Given the description of an element on the screen output the (x, y) to click on. 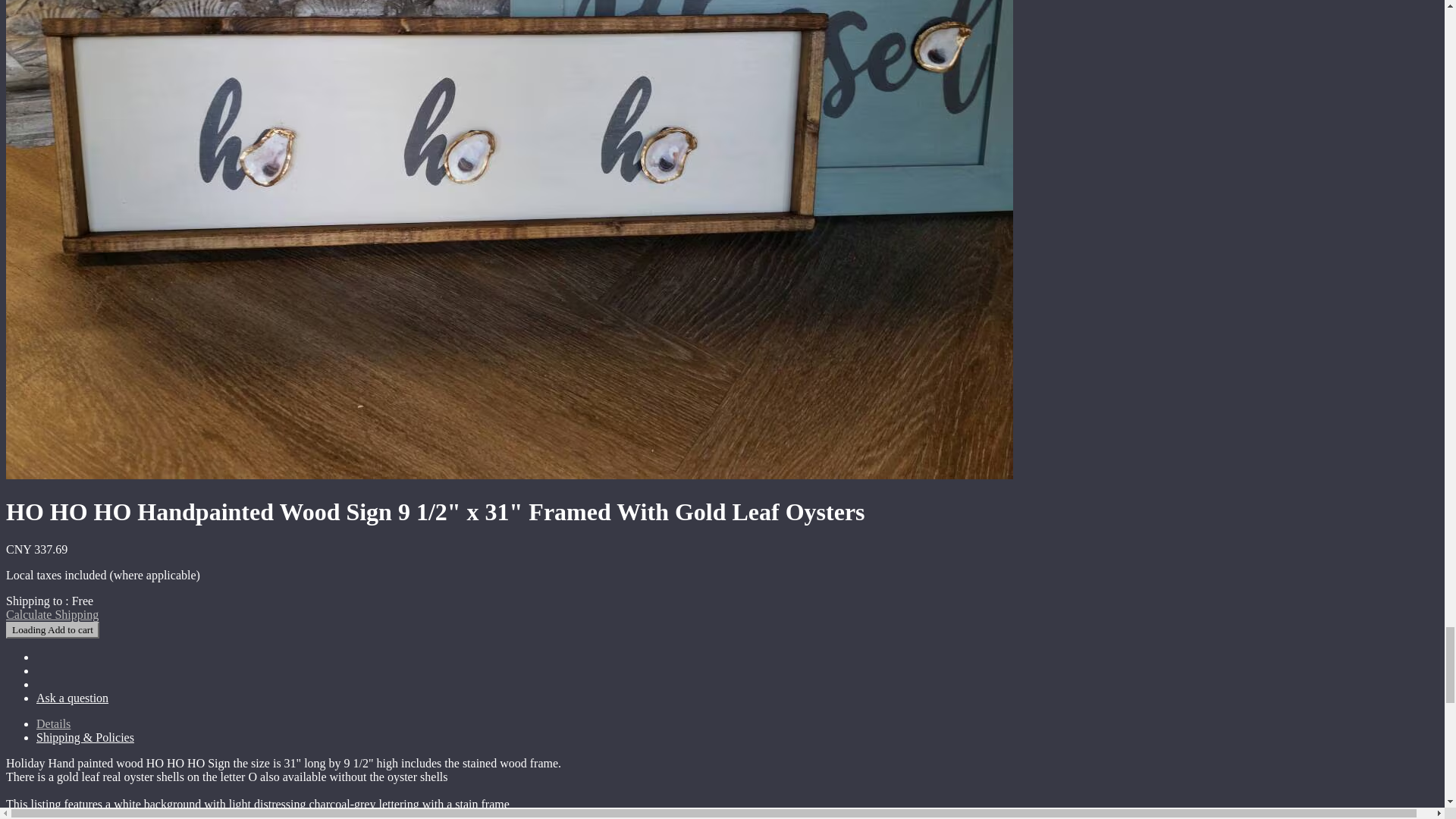
Details (52, 723)
Calculate Shipping (52, 614)
Loading Add to cart (52, 629)
Ask a question (71, 697)
